Given the description of an element on the screen output the (x, y) to click on. 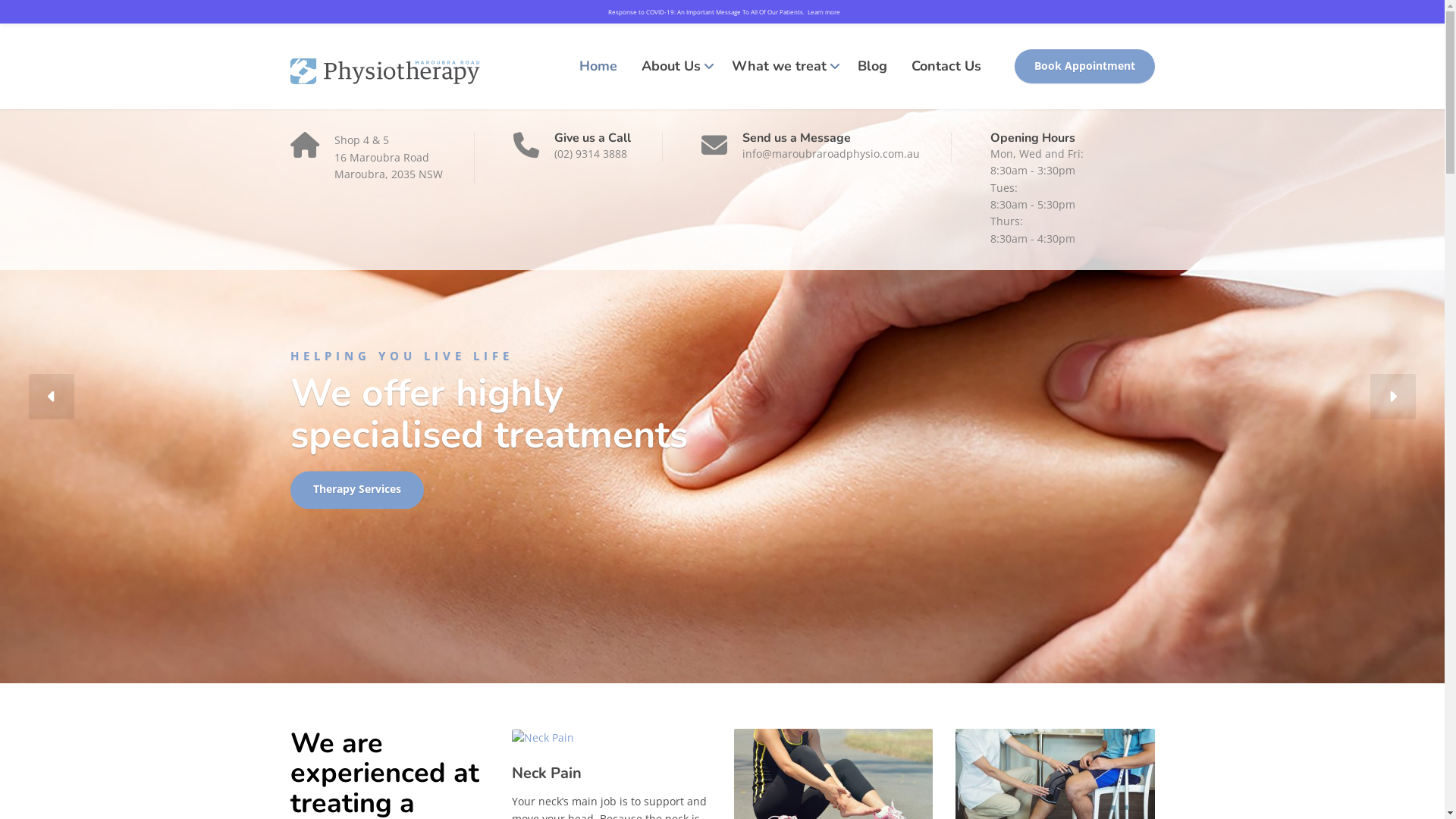
Maroubra Road Physiotherapy Element type: hover (384, 66)
Book Appointment Element type: text (1084, 66)
What we treat Element type: text (781, 66)
Blog Element type: text (871, 66)
Learn more Element type: text (822, 11)
Contact Us Element type: text (945, 66)
Neck Pain Element type: text (546, 772)
Home Element type: text (597, 66)
Therapy Services Element type: text (356, 489)
About Us Element type: text (674, 66)
